Given the description of an element on the screen output the (x, y) to click on. 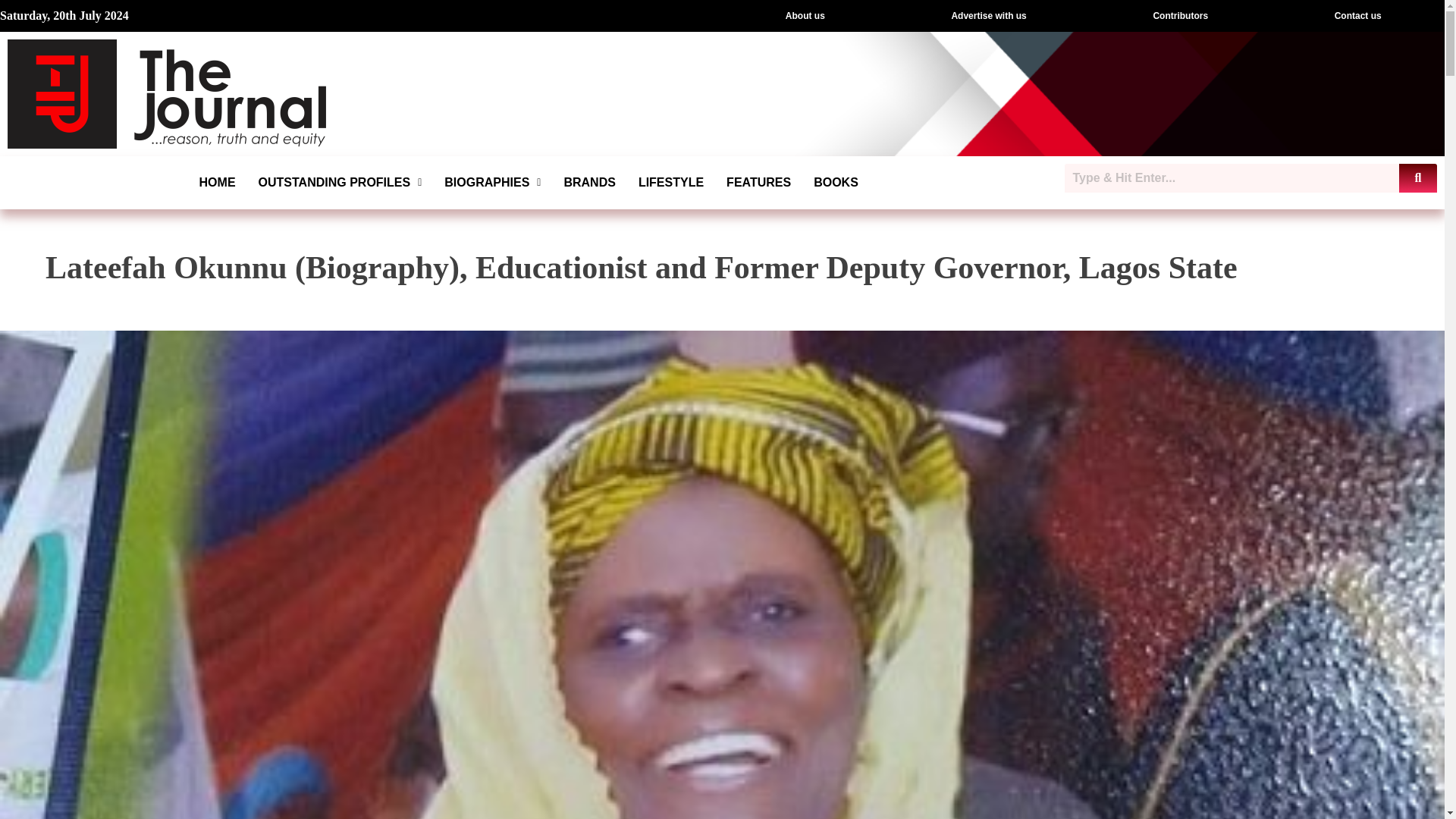
About us (805, 15)
Contributors (1180, 15)
Search (1231, 177)
BIOGRAPHIES (491, 182)
BRANDS (588, 182)
Advertise with us (988, 15)
FEATURES (758, 182)
OUTSTANDING PROFILES (340, 182)
HOME (217, 182)
LIFESTYLE (670, 182)
BOOKS (835, 182)
